Given the description of an element on the screen output the (x, y) to click on. 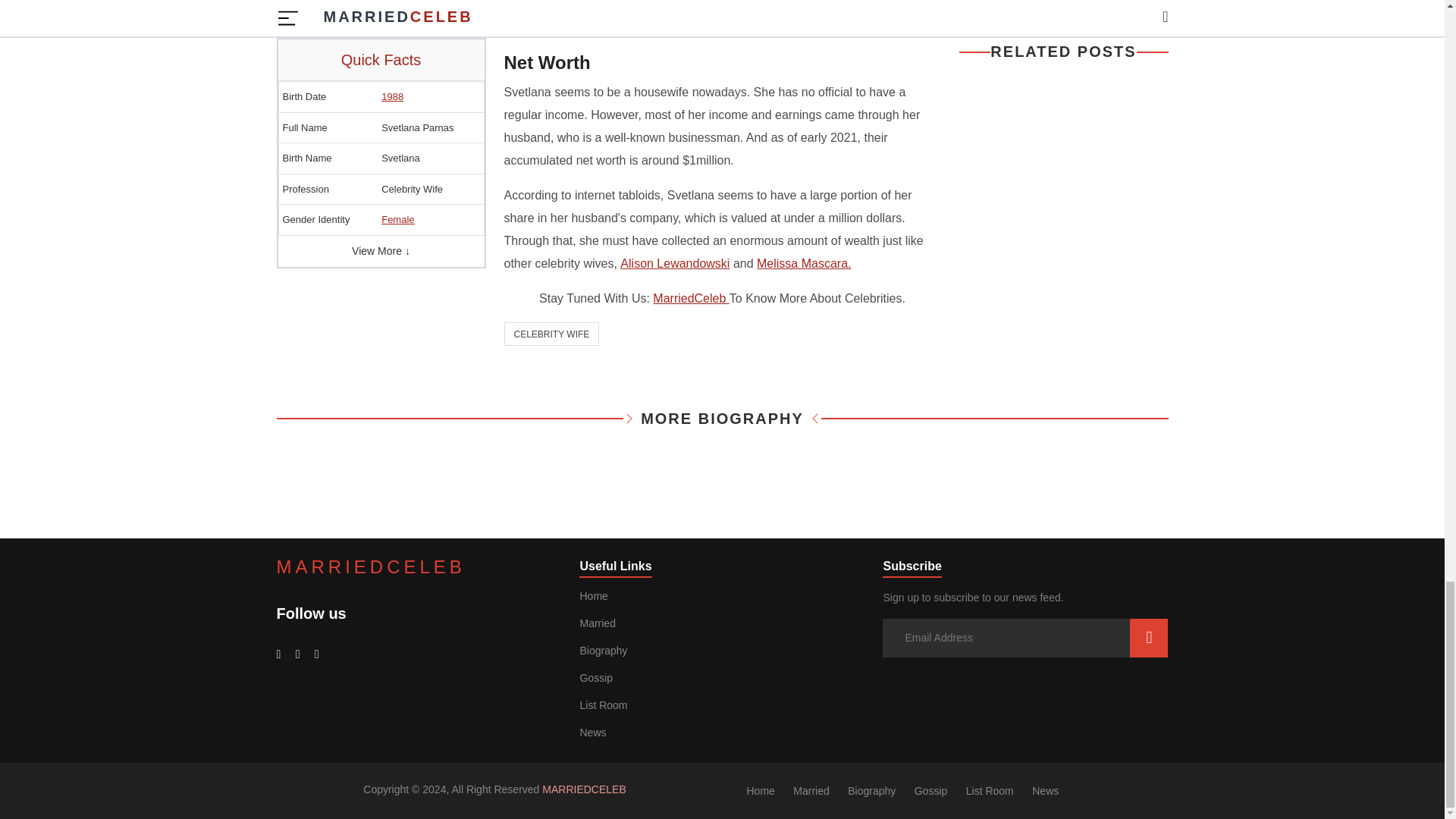
Melissa Mascara. (803, 263)
Alison Lewandowski (674, 263)
Biography (603, 650)
Home (593, 595)
CELEBRITY WIFE (550, 333)
MARRIEDCELEB (370, 566)
Married (596, 623)
MarriedCeleb (690, 297)
